Given the description of an element on the screen output the (x, y) to click on. 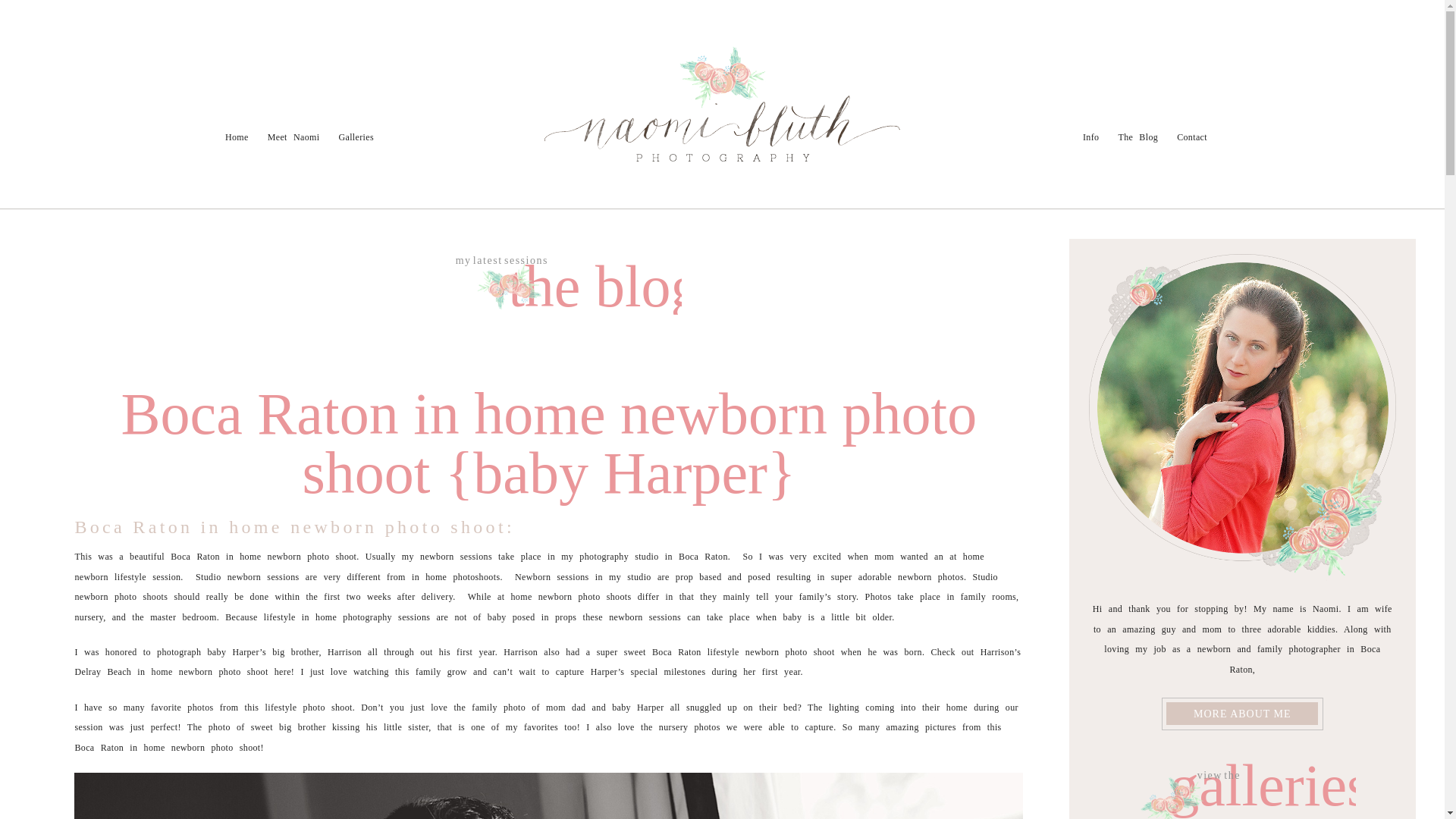
The Blog (140, 102)
Info (96, 102)
The Blog (1137, 136)
Meet Naomi (293, 136)
in-home-newborn-photo-shoot-naomi-bluth-photography 1 (548, 796)
Contact (190, 102)
MORE ABOUT ME (1241, 713)
Home (236, 136)
Info (1091, 136)
Contact (1191, 136)
